Given the description of an element on the screen output the (x, y) to click on. 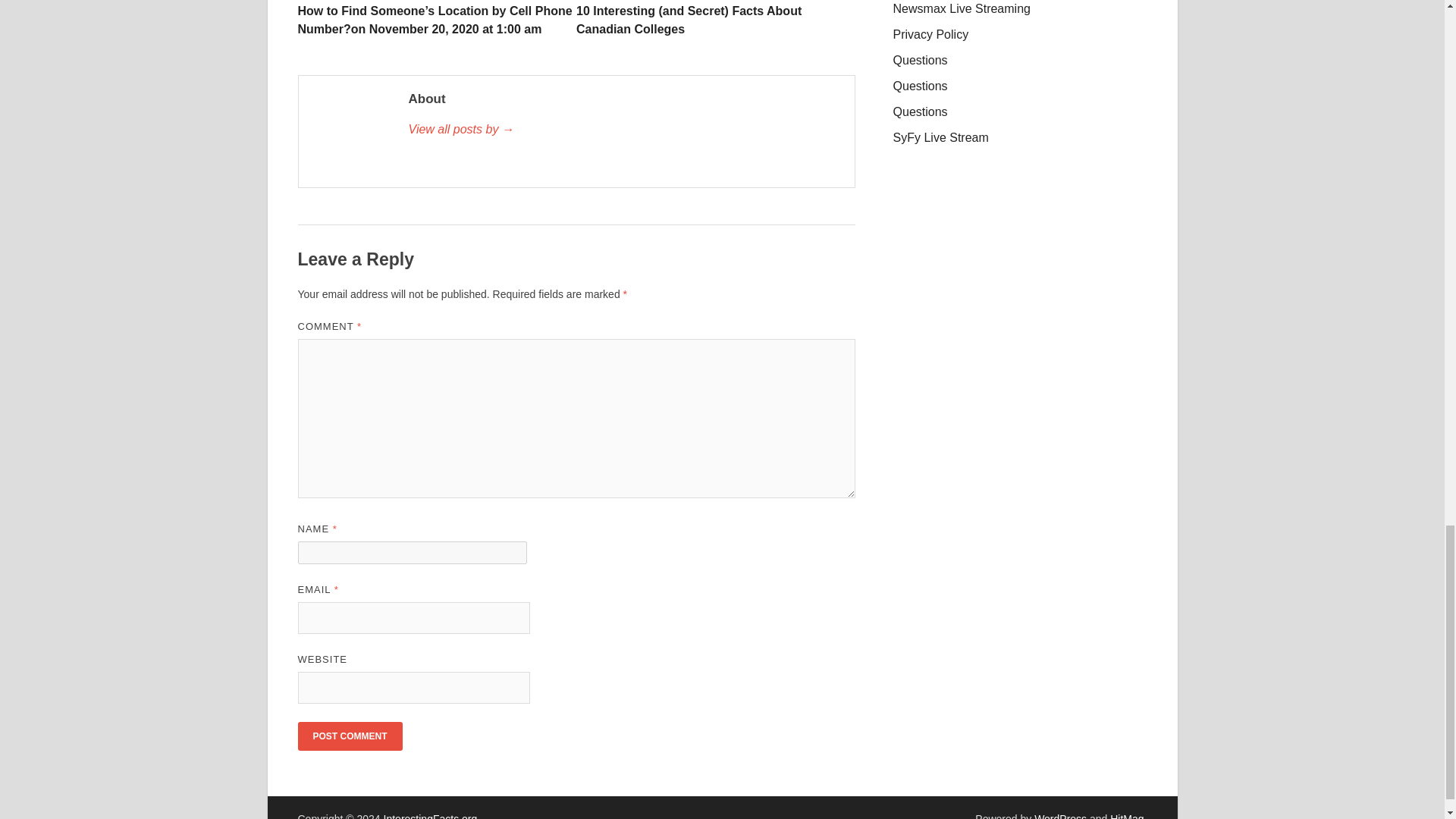
Post Comment (349, 736)
